Given the description of an element on the screen output the (x, y) to click on. 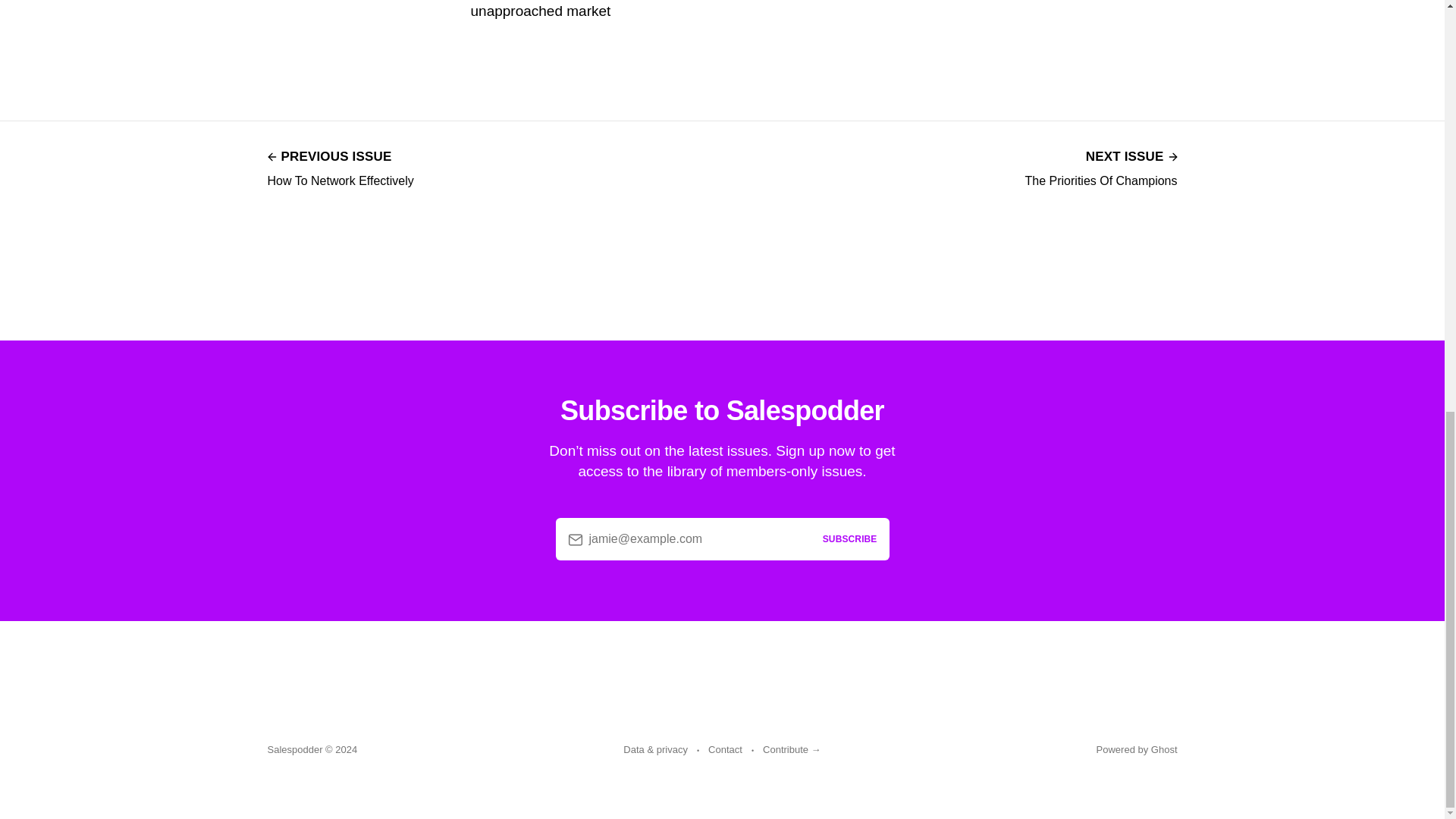
Contact (724, 750)
Powered by Ghost (1101, 167)
